Given the description of an element on the screen output the (x, y) to click on. 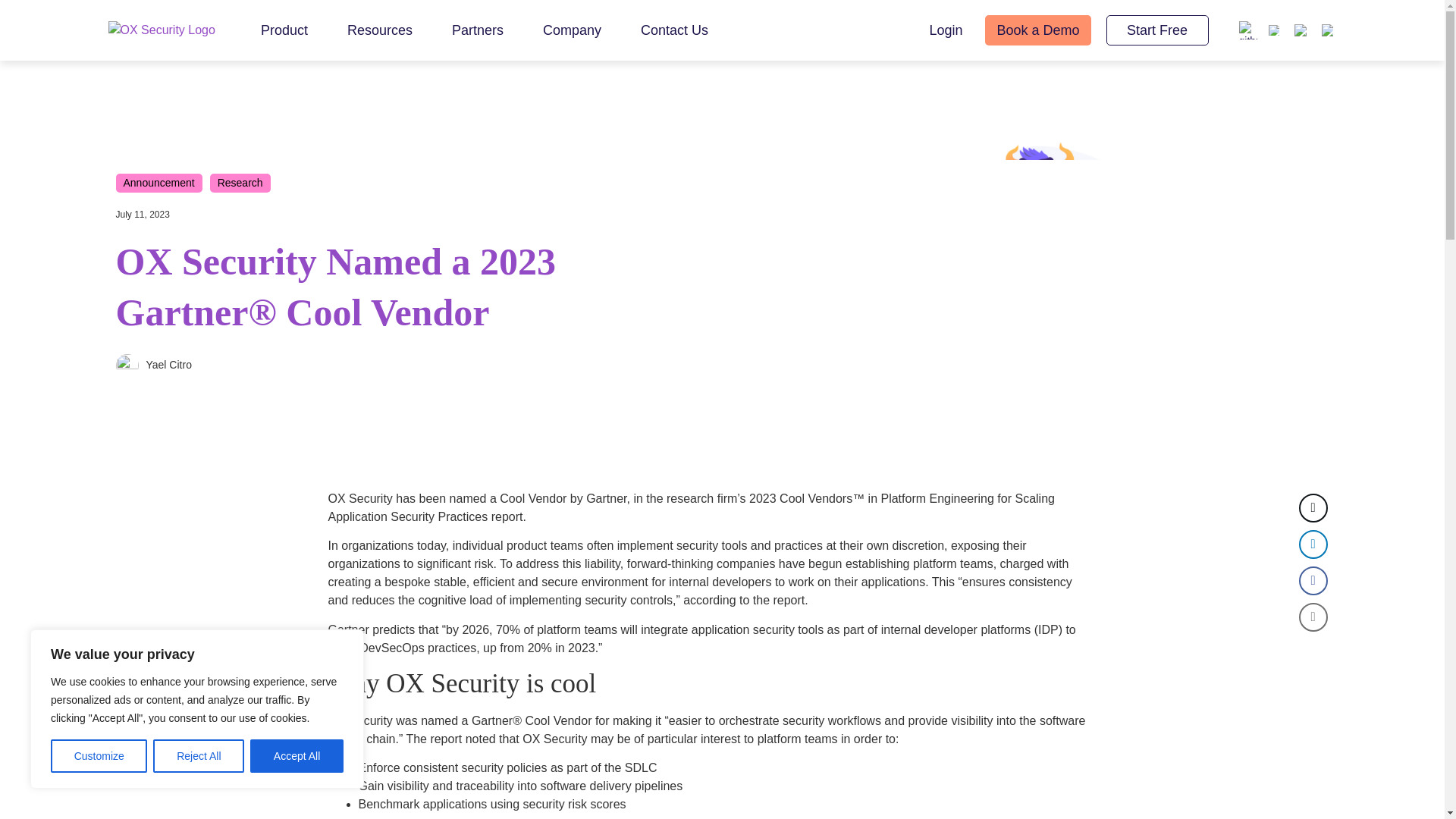
Resources (379, 29)
Company (572, 29)
Product (283, 29)
Customize (98, 756)
Partners (477, 29)
Reject All (198, 756)
Accept All (296, 756)
